Given the description of an element on the screen output the (x, y) to click on. 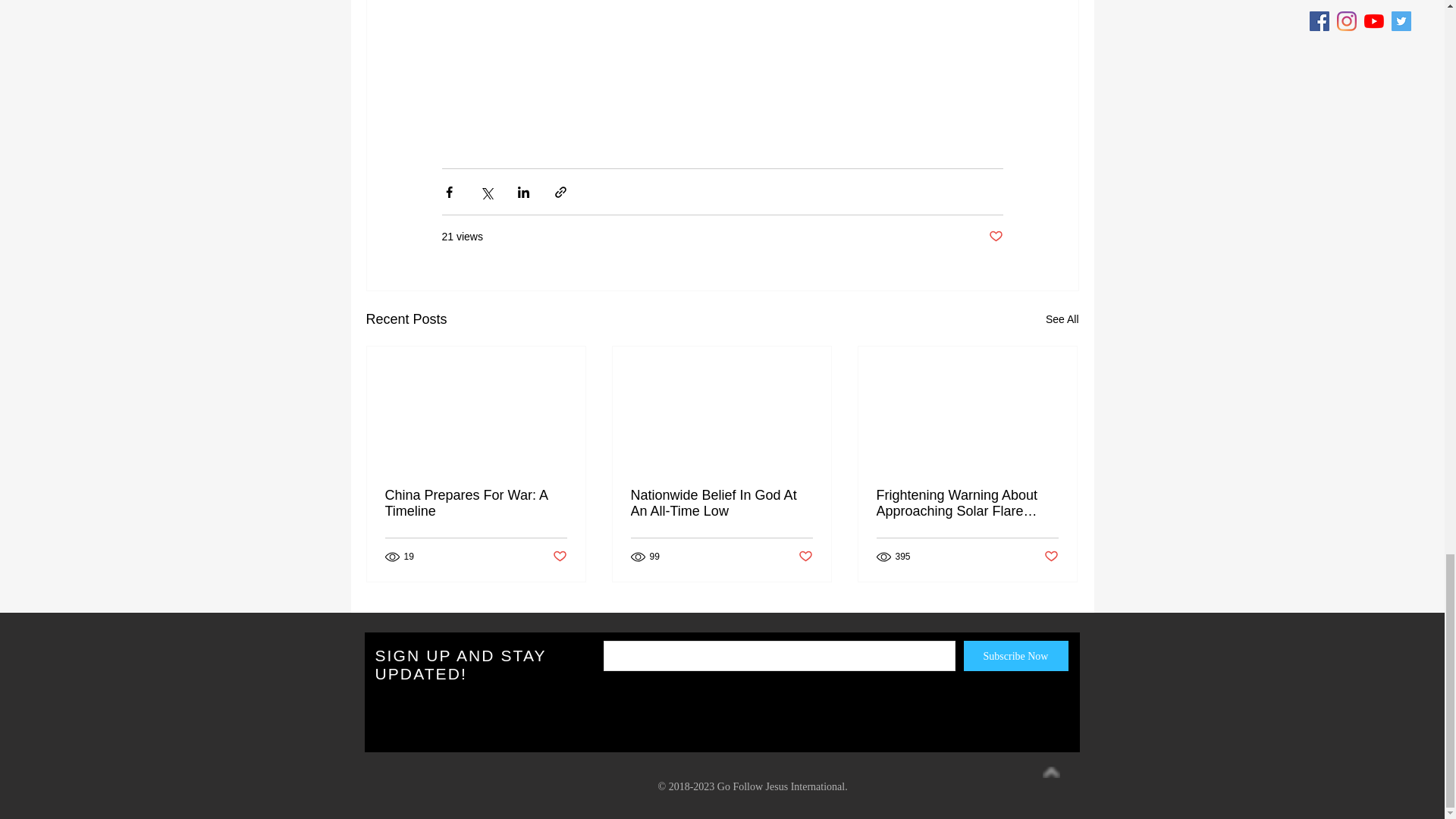
Post not marked as liked (995, 236)
Subscribe Now (1014, 655)
Post not marked as liked (558, 556)
Post not marked as liked (1050, 556)
Post not marked as liked (804, 556)
Nationwide Belief In God At An All-Time Low (721, 503)
China Prepares For War: A Timeline (476, 503)
See All (1061, 319)
